Given the description of an element on the screen output the (x, y) to click on. 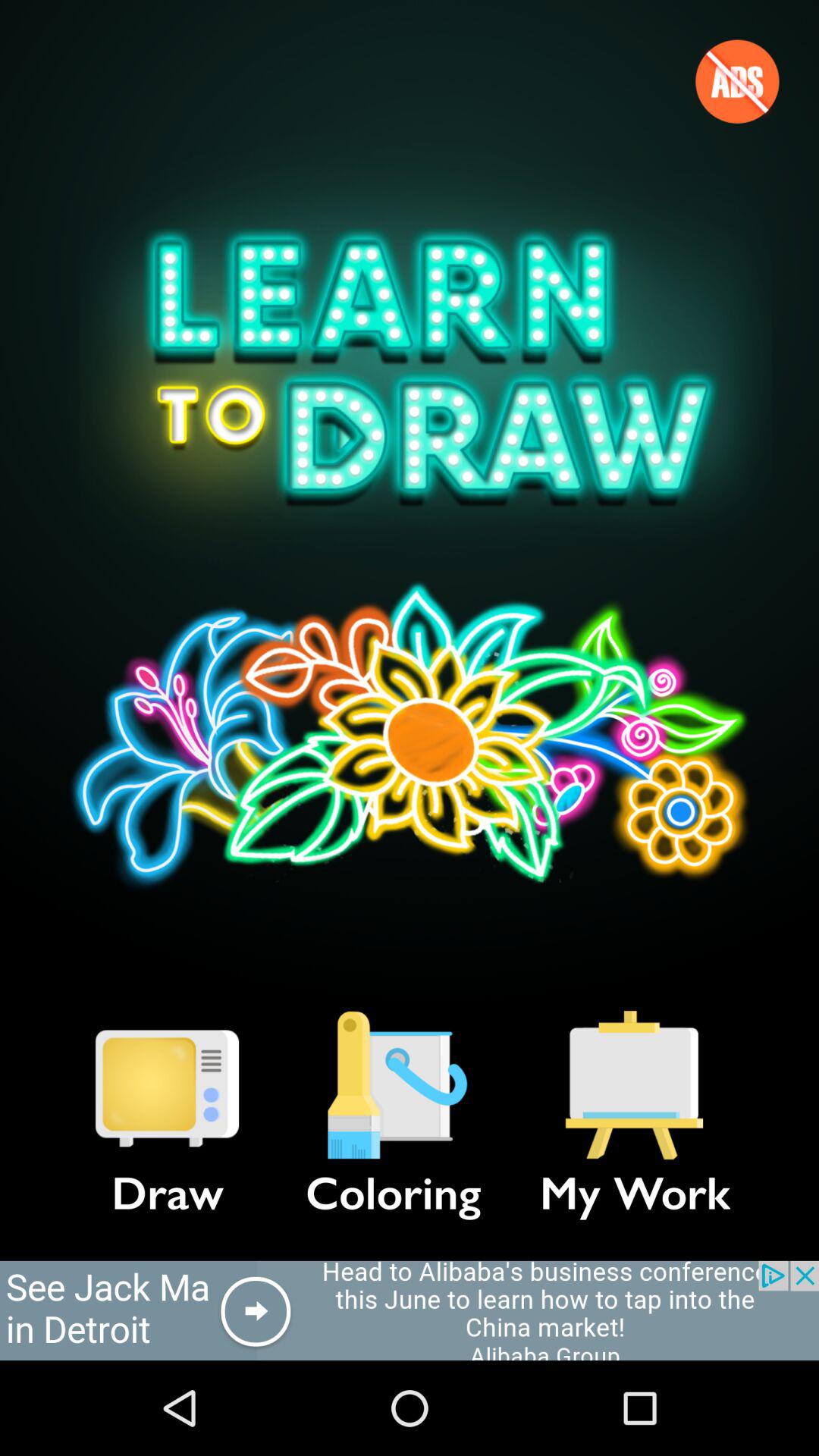
turn off the icon above draw item (166, 1085)
